Given the description of an element on the screen output the (x, y) to click on. 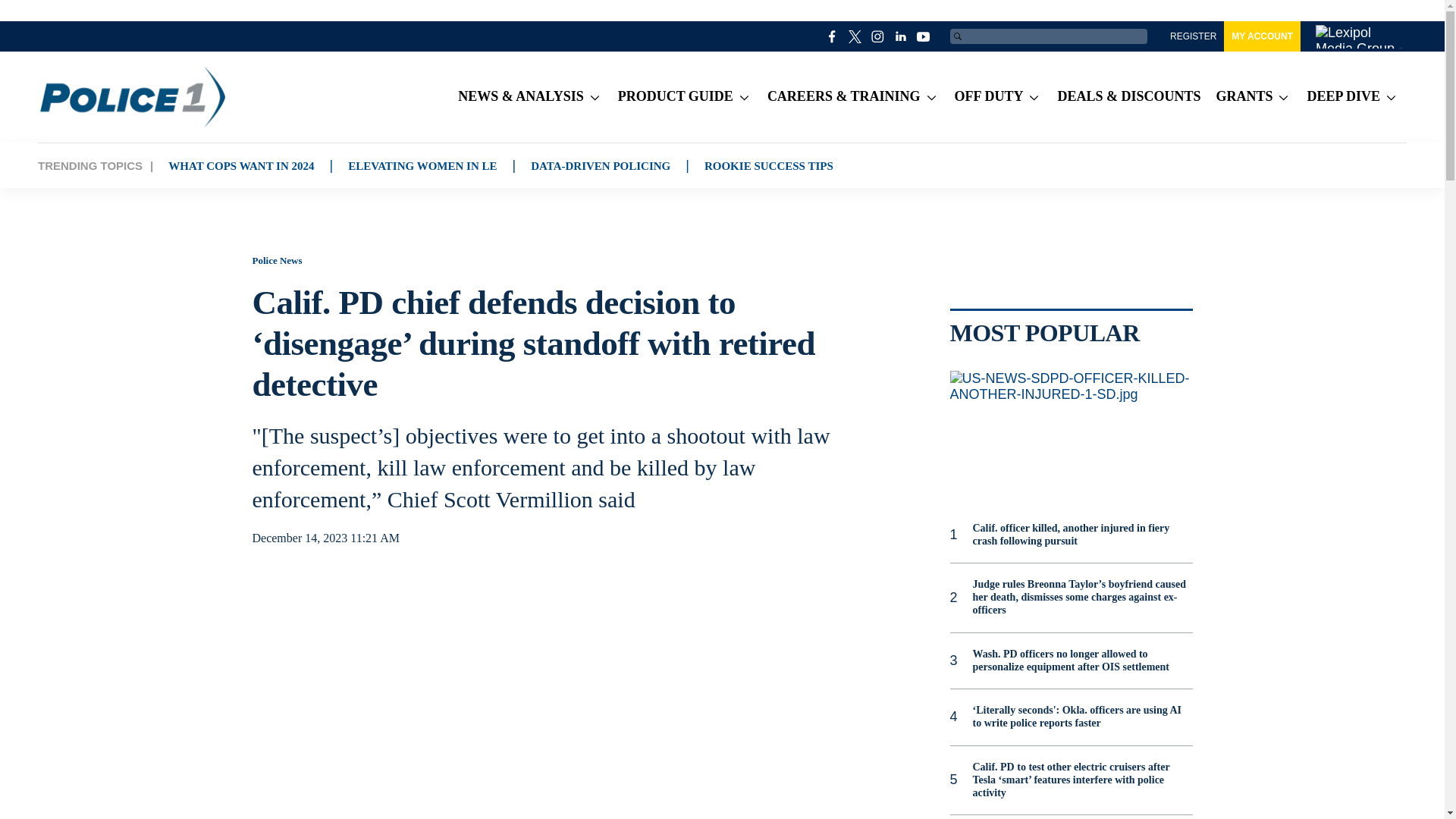
youtube (923, 36)
facebook (832, 36)
linkedin (900, 36)
twitter (855, 36)
REGISTER (1192, 36)
instagram (877, 36)
MY ACCOUNT (1262, 36)
